Given the description of an element on the screen output the (x, y) to click on. 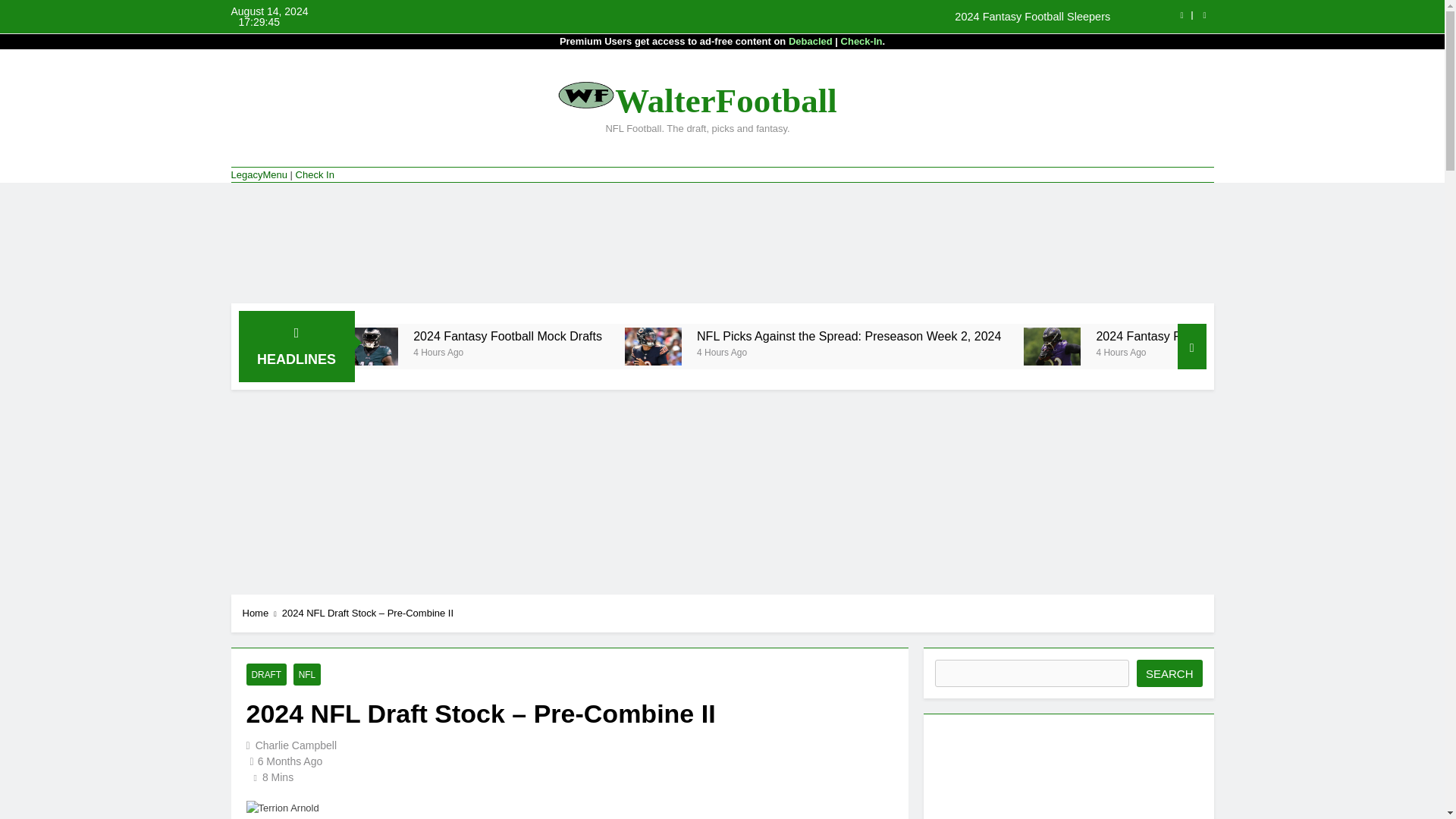
2024 Fantasy Football Mock Drafts (498, 346)
2024 Fantasy Football Sleepers (817, 16)
Check In (314, 174)
Check-In (861, 41)
LegacyMenu (258, 174)
2024 Fantasy Football Sleepers (817, 16)
2024 Fantasy Football Sleepers (365, 336)
WalterFootball (724, 99)
Debacled (810, 41)
